Given the description of an element on the screen output the (x, y) to click on. 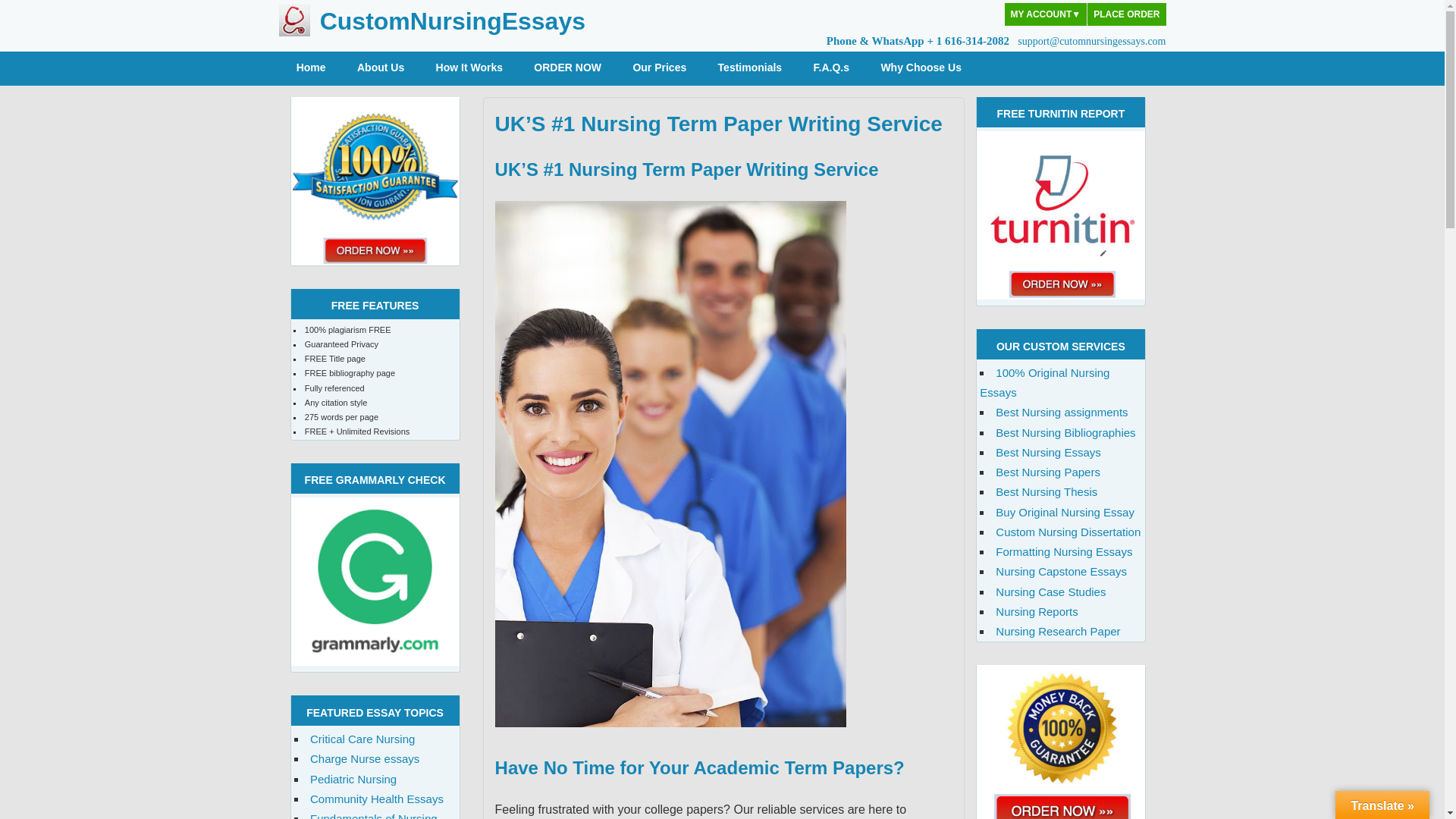
ORDER NOW (566, 68)
Why Choose Us (926, 68)
CustomNursingEssays (452, 21)
Our Prices (659, 68)
Home (310, 68)
Testimonials (748, 68)
Community Health Essays (377, 798)
About Us (381, 68)
How It Works (469, 68)
PLACE ORDER (1126, 14)
